Given the description of an element on the screen output the (x, y) to click on. 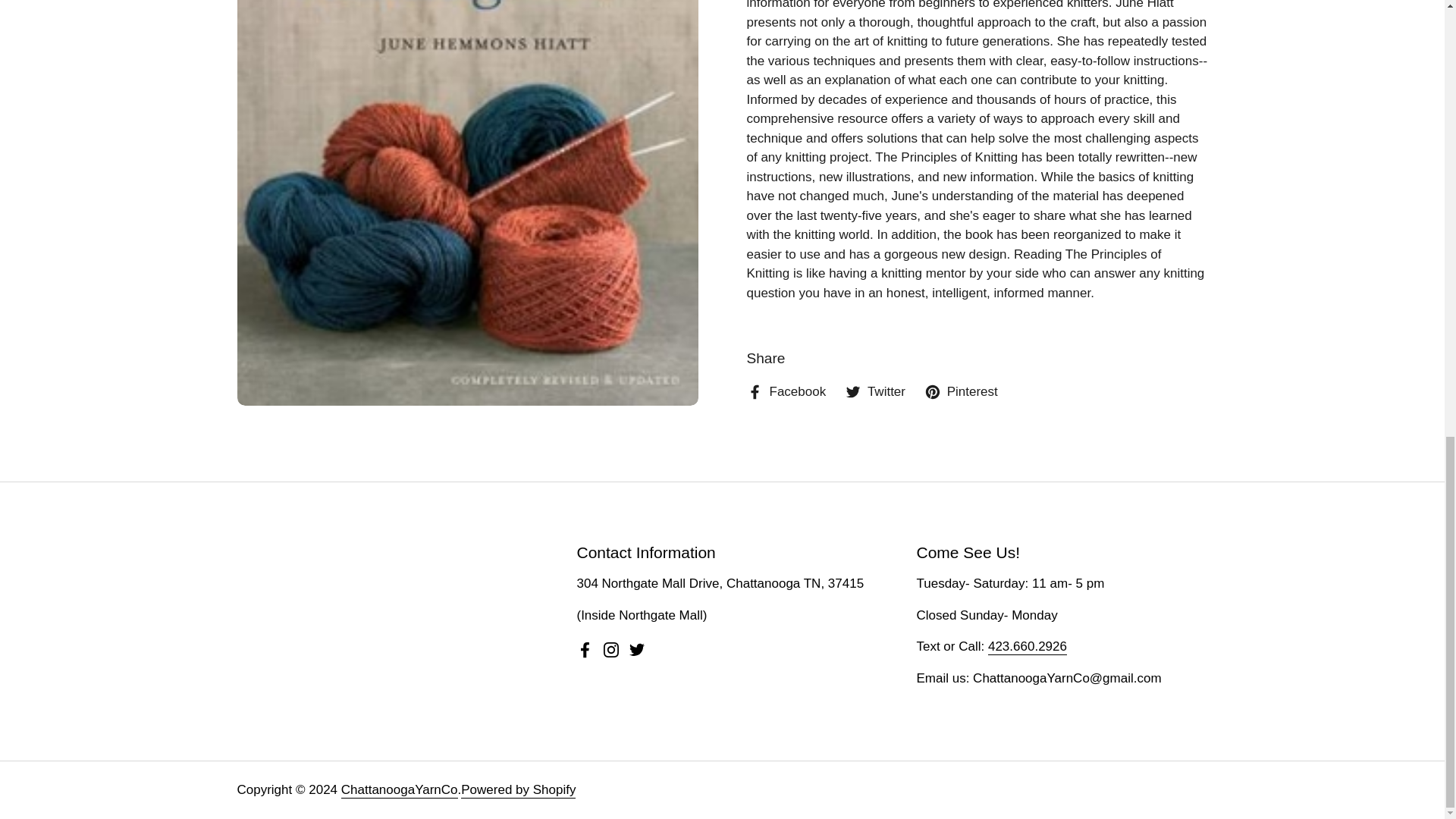
Facebook (785, 392)
Instagram (611, 649)
Share on pinterest (960, 392)
Twitter (874, 392)
Share on facebook (785, 392)
Powered by Shopify (518, 790)
Facebook (585, 649)
ChattanoogaYarnCo (399, 790)
Pinterest (960, 392)
Twitter (636, 649)
423.660.2926 (1027, 647)
Share on twitter (874, 392)
